Given the description of an element on the screen output the (x, y) to click on. 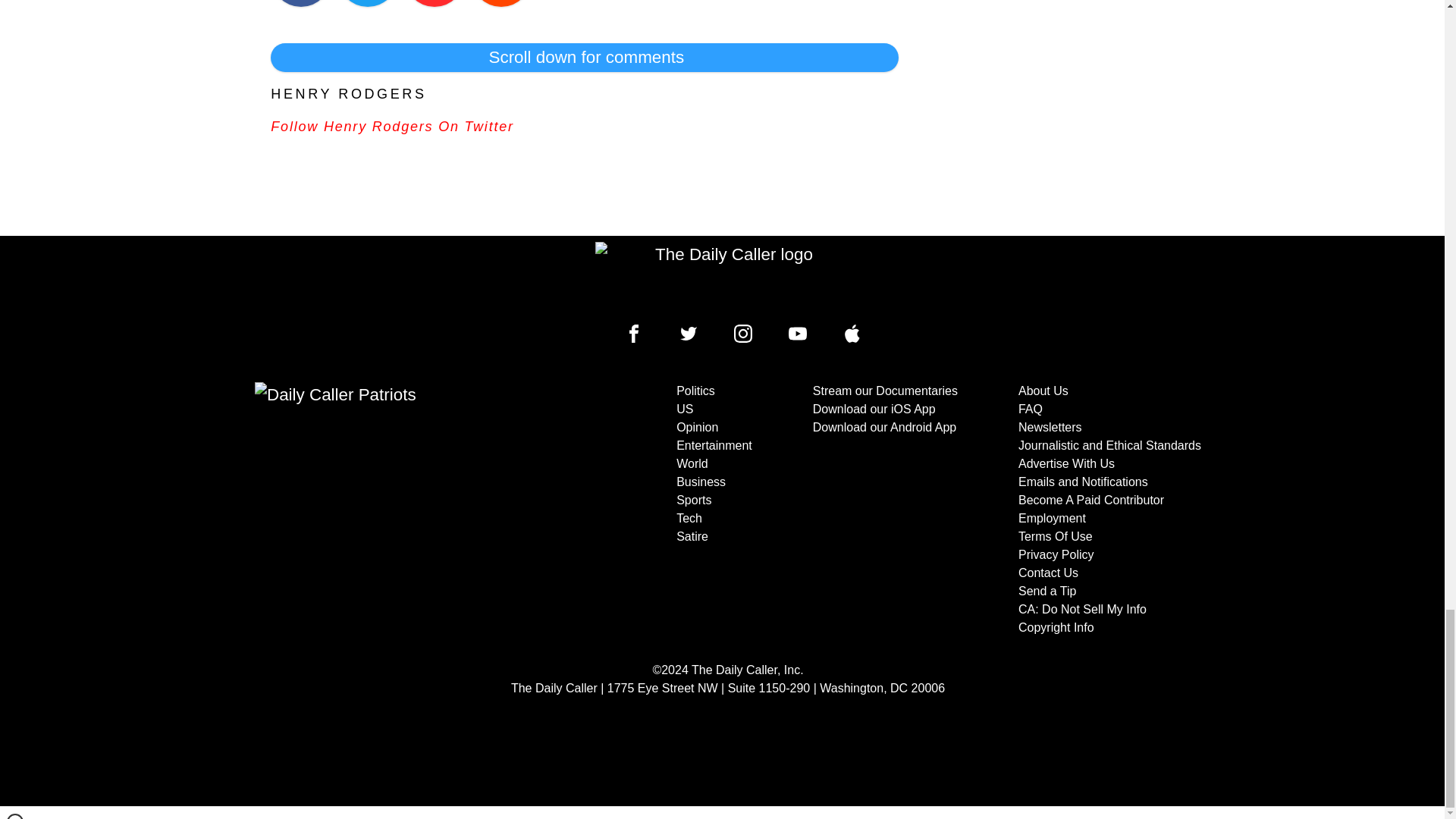
To home page (727, 276)
Daily Caller Instagram (742, 333)
Daily Caller Facebook (633, 333)
Daily Caller YouTube (852, 333)
Scroll down for comments (584, 57)
Subscribe to The Daily Caller (405, 509)
Daily Caller Twitter (688, 333)
Daily Caller YouTube (797, 333)
